Given the description of an element on the screen output the (x, y) to click on. 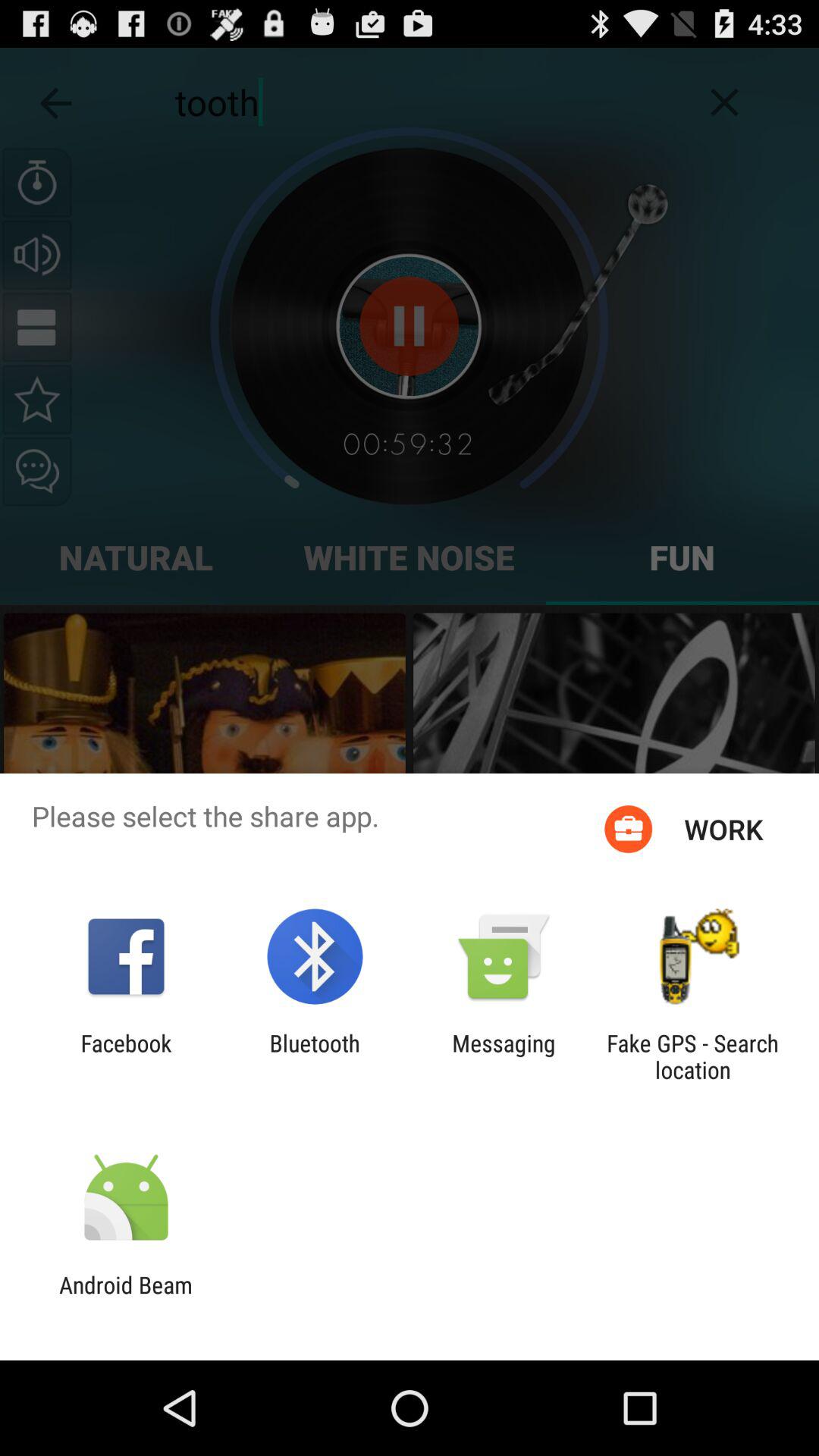
choose icon to the left of the bluetooth app (125, 1056)
